Given the description of an element on the screen output the (x, y) to click on. 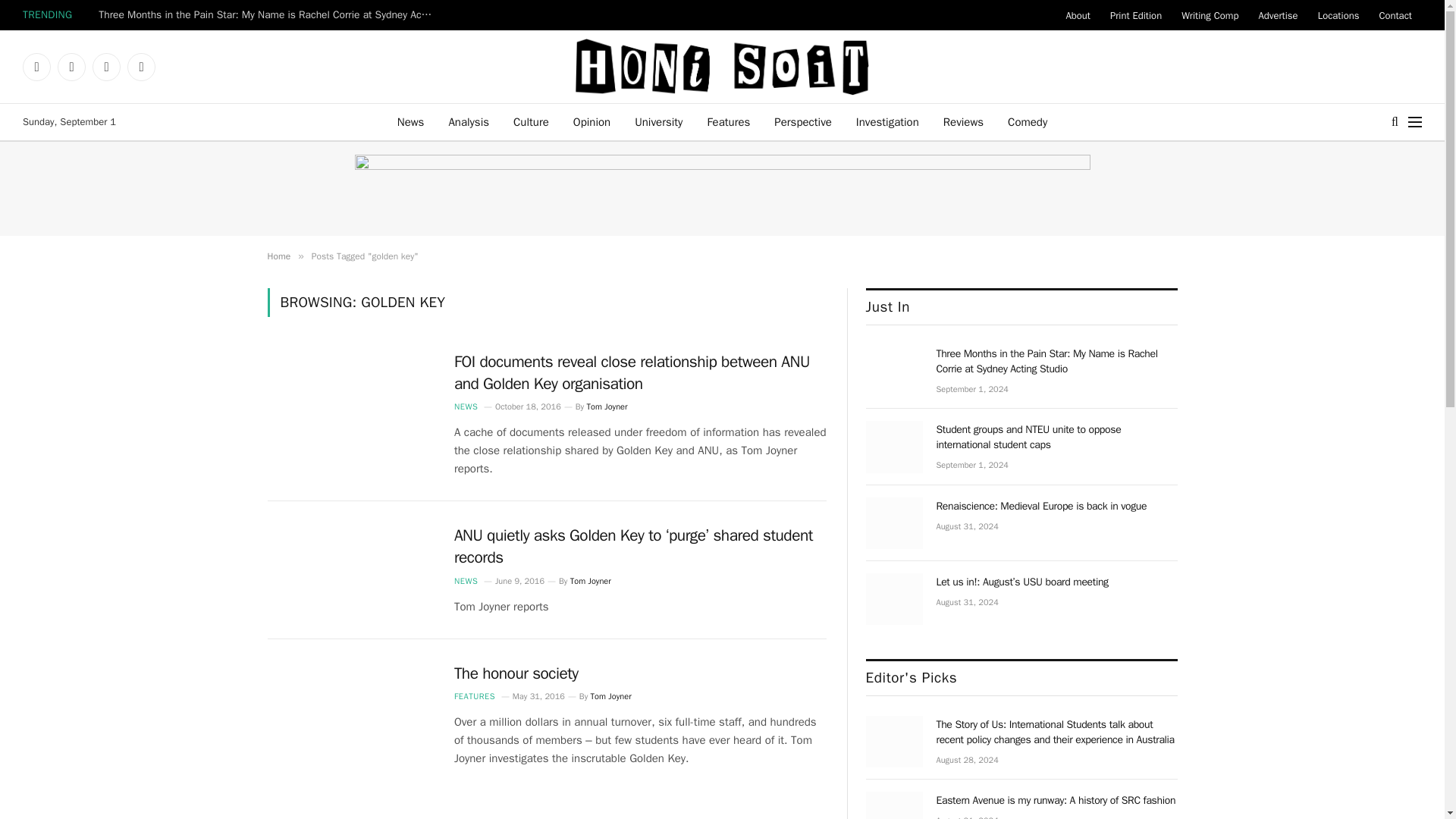
News (410, 122)
University (658, 122)
Eastern Avenue is my runway: A history of SRC fashion (894, 805)
Opinion (591, 122)
Perspective (802, 122)
About (1077, 15)
Analysis (467, 122)
Writing Comp (1209, 15)
Facebook (36, 67)
Reviews (963, 122)
